Given the description of an element on the screen output the (x, y) to click on. 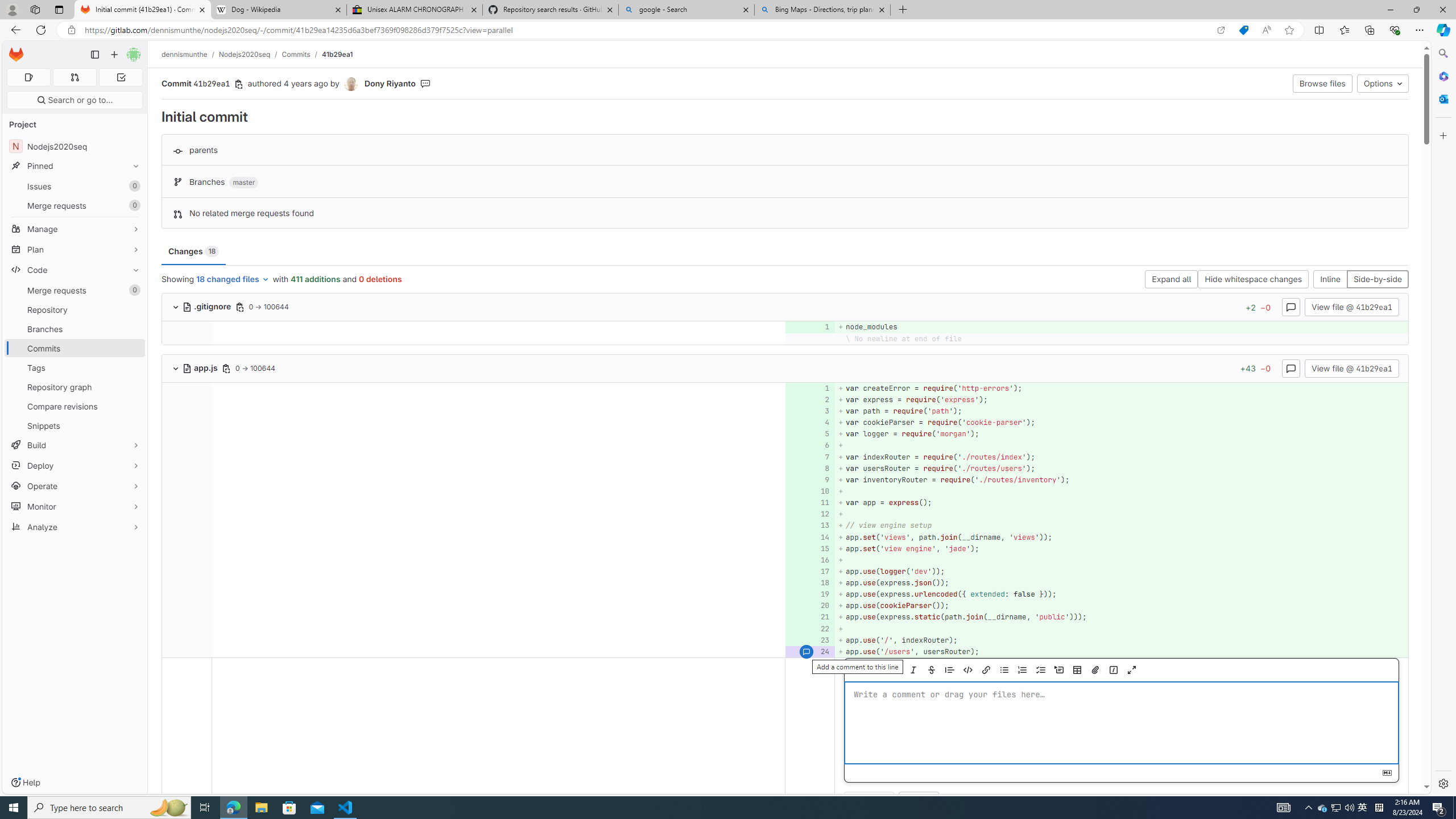
8 (808, 468)
18 (808, 582)
Add a comment to this line 14 (809, 536)
10 (808, 490)
Add a link (Ctrl+K) (985, 670)
Monitor (74, 506)
Add a comment to this line 15 (809, 548)
+ var app = express();  (1120, 503)
+ var indexRouter = require('./routes/index');  (1120, 456)
Open in app (1220, 29)
Comment (868, 800)
